Given the description of an element on the screen output the (x, y) to click on. 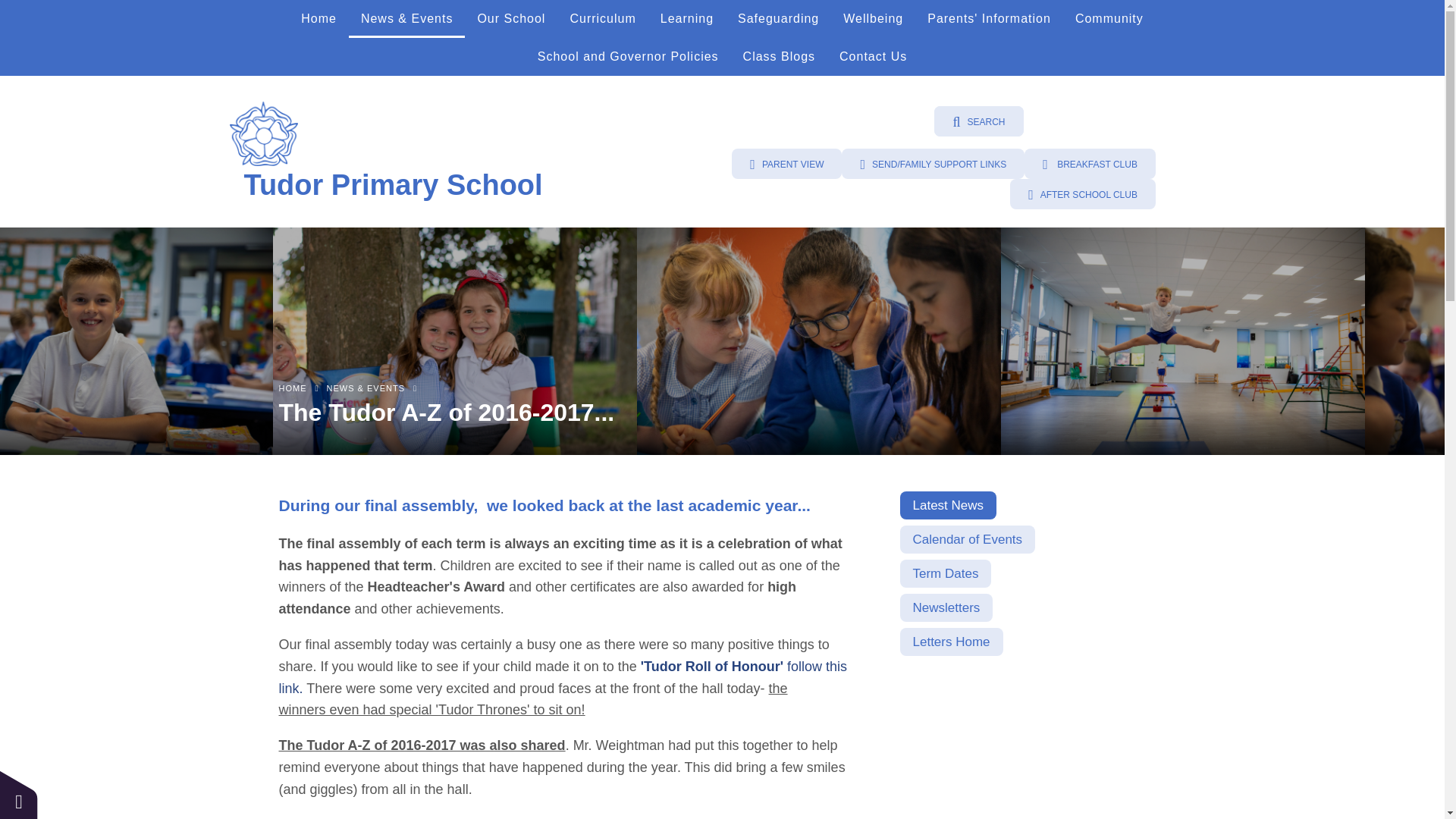
Home (318, 18)
Cookie Settings (18, 794)
Parent View (786, 163)
After School Club (1083, 194)
Our School (510, 18)
  Breakfast Club   (1090, 163)
